Given the description of an element on the screen output the (x, y) to click on. 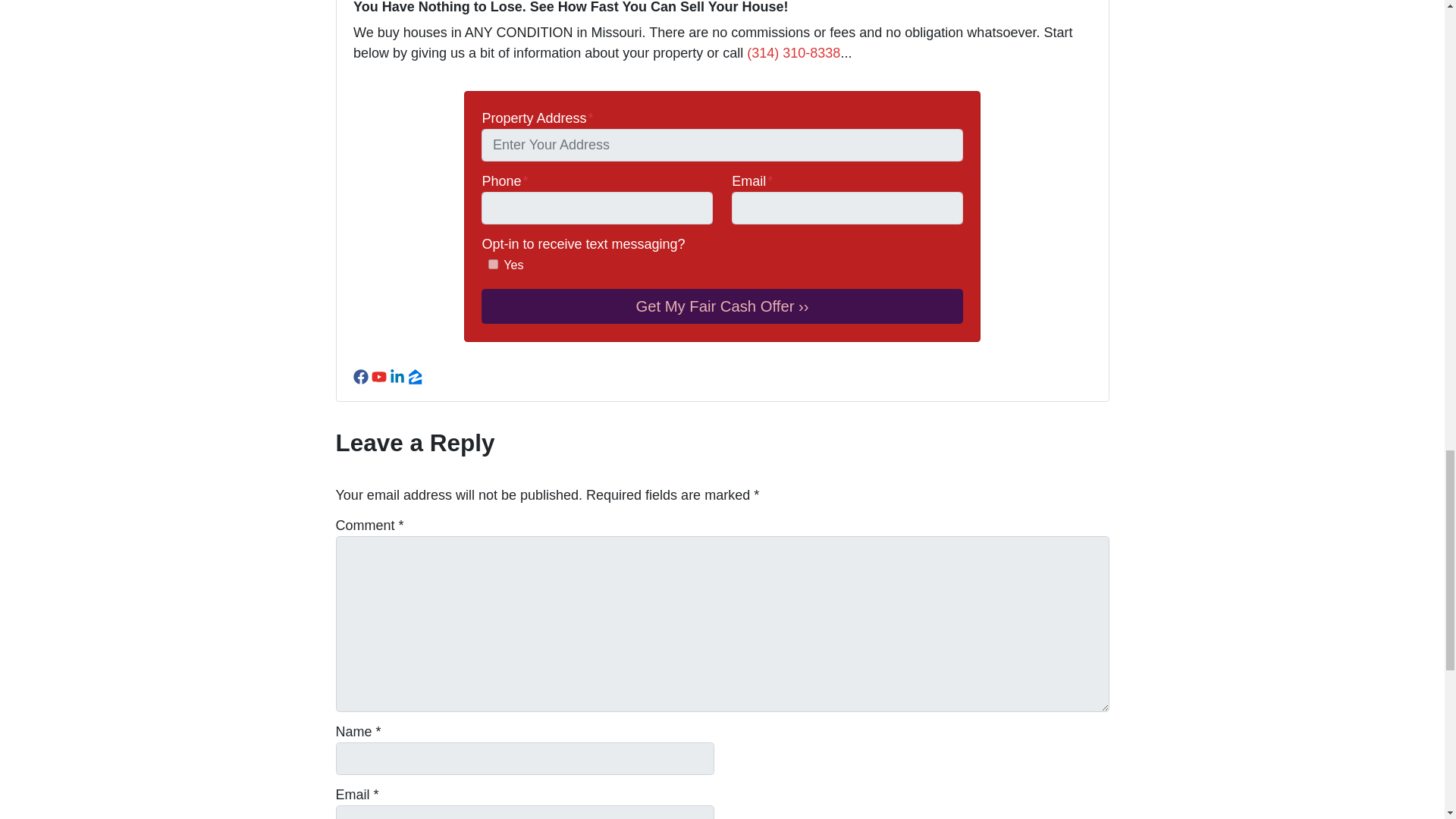
YouTube (379, 376)
Facebook (360, 376)
Realtor (433, 376)
LinkedIn (397, 376)
Zillow (415, 376)
First Choice (492, 264)
